Given the description of an element on the screen output the (x, y) to click on. 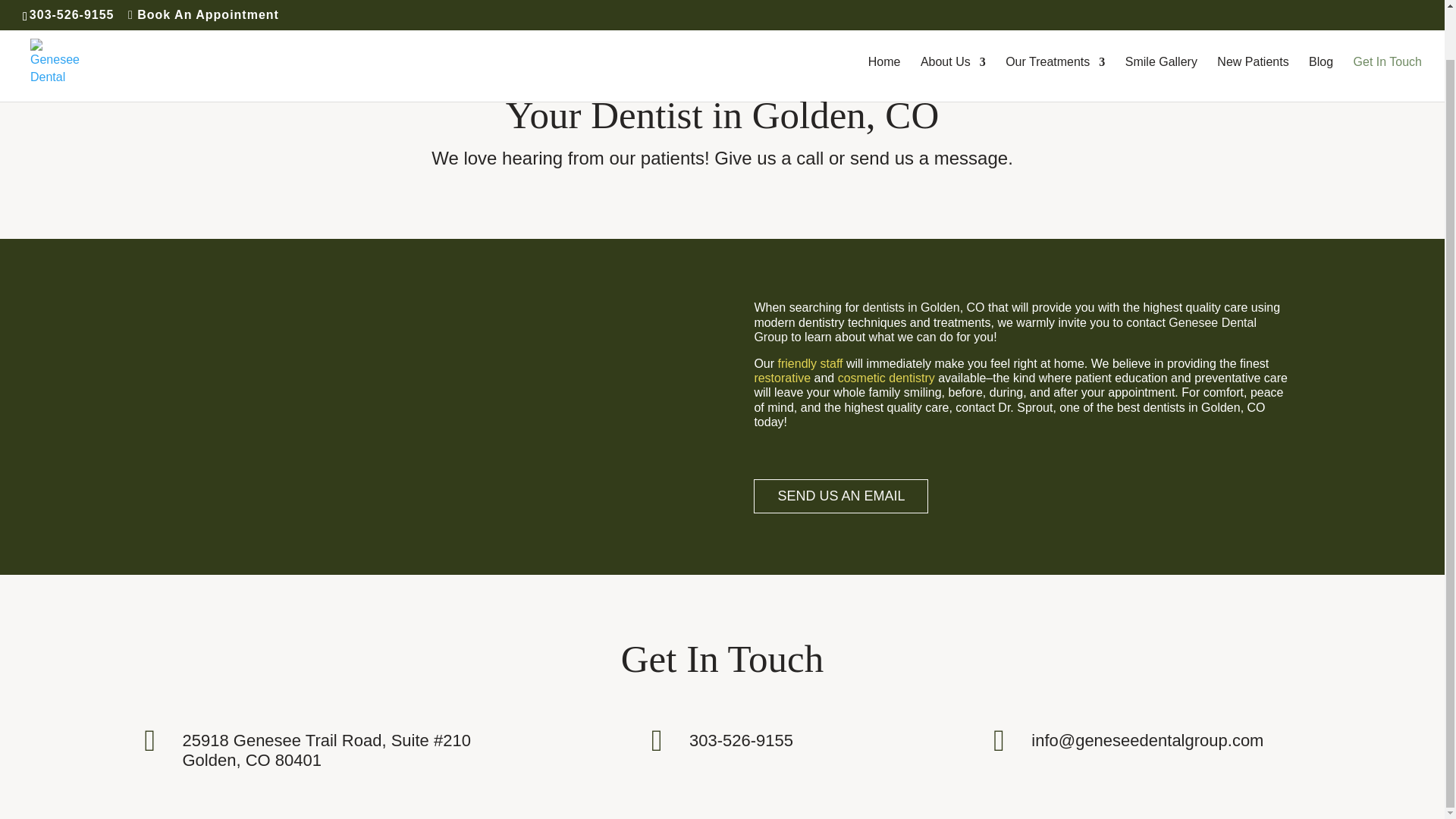
About Us (952, 26)
New Patients (1252, 26)
Get In Touch (1388, 26)
SEND US AN EMAIL (841, 496)
Our Treatments (1055, 26)
Smile Gallery (1160, 26)
restorative (782, 377)
friendly staff (810, 363)
cosmetic dentistry (886, 377)
Genesee Dental Group (1005, 329)
dentists in Golden, CO (924, 307)
